Given the description of an element on the screen output the (x, y) to click on. 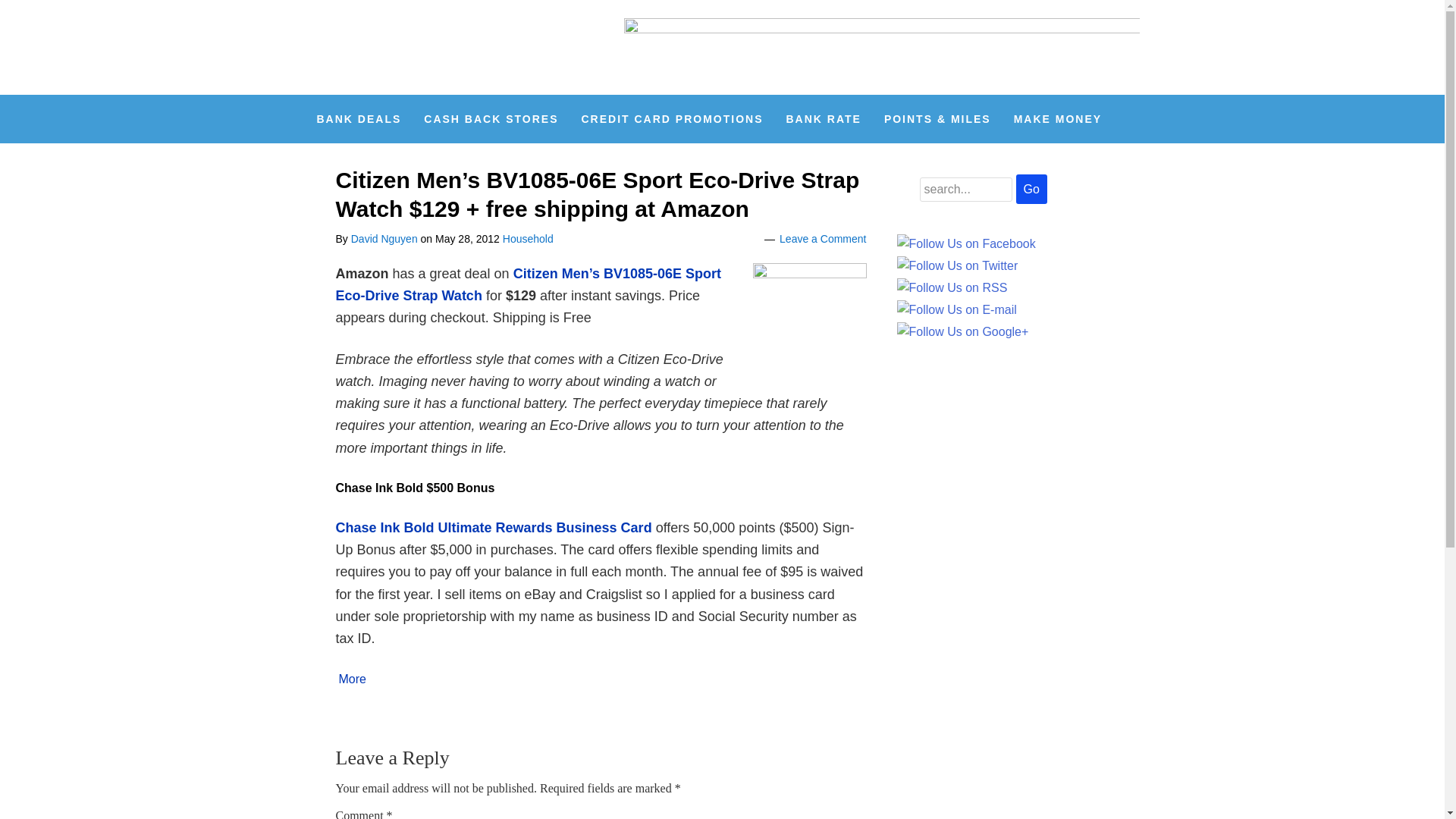
Leave a Comment (822, 238)
David Nguyen (383, 238)
Go (1031, 188)
Go (1031, 188)
Follow Us on Facebook (965, 243)
Go (1031, 188)
Rebates Money (418, 47)
Follow Us on E-mail (956, 310)
BANK RATE (823, 119)
Chase Ink Bold Ultimate Rewards Business Card (494, 527)
